Given the description of an element on the screen output the (x, y) to click on. 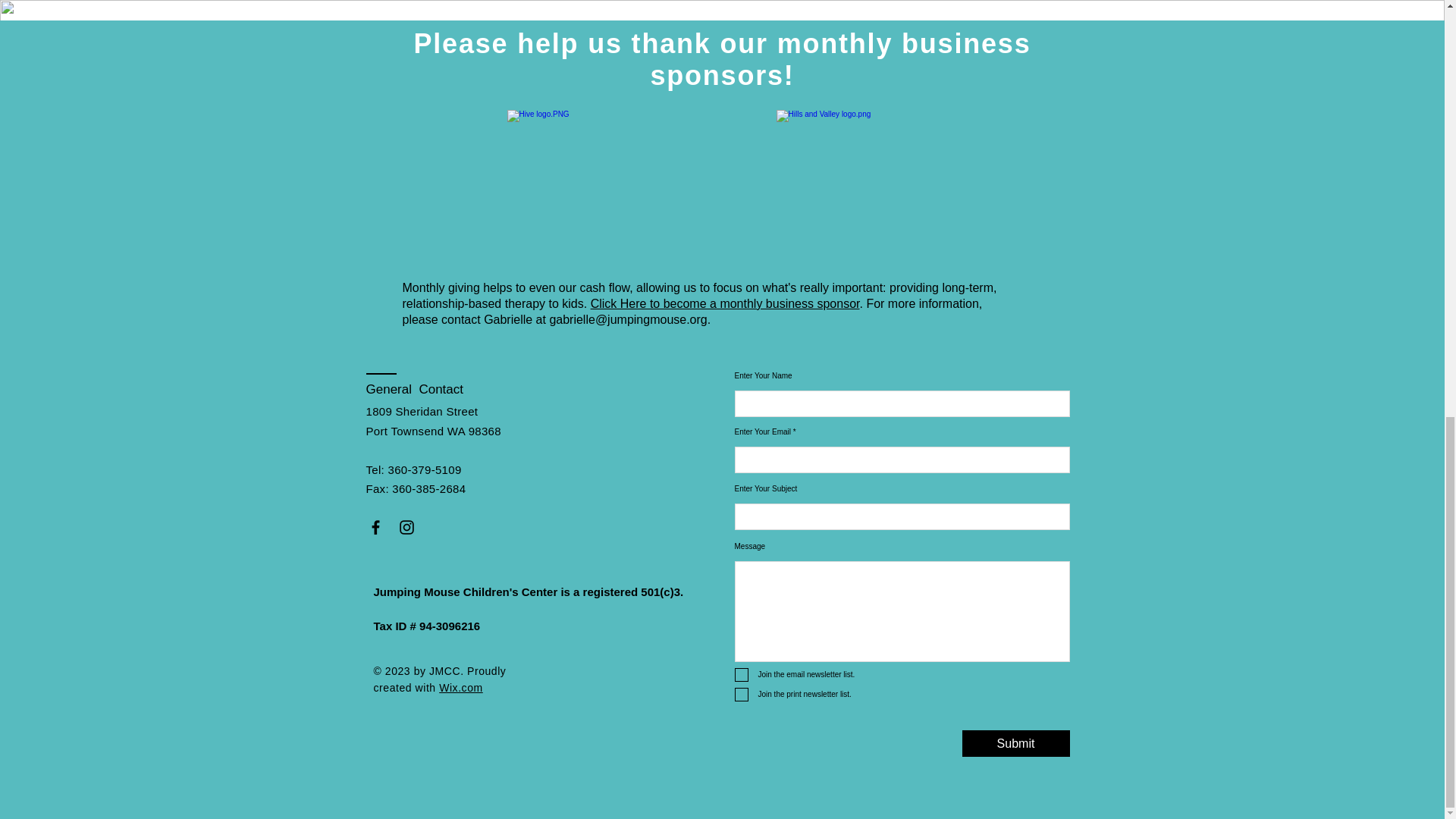
Wix.com (461, 687)
Jumping Mouse Children's Center (464, 591)
Click Here to become a monthly business sponsor (725, 303)
Submit (1014, 743)
